Given the description of an element on the screen output the (x, y) to click on. 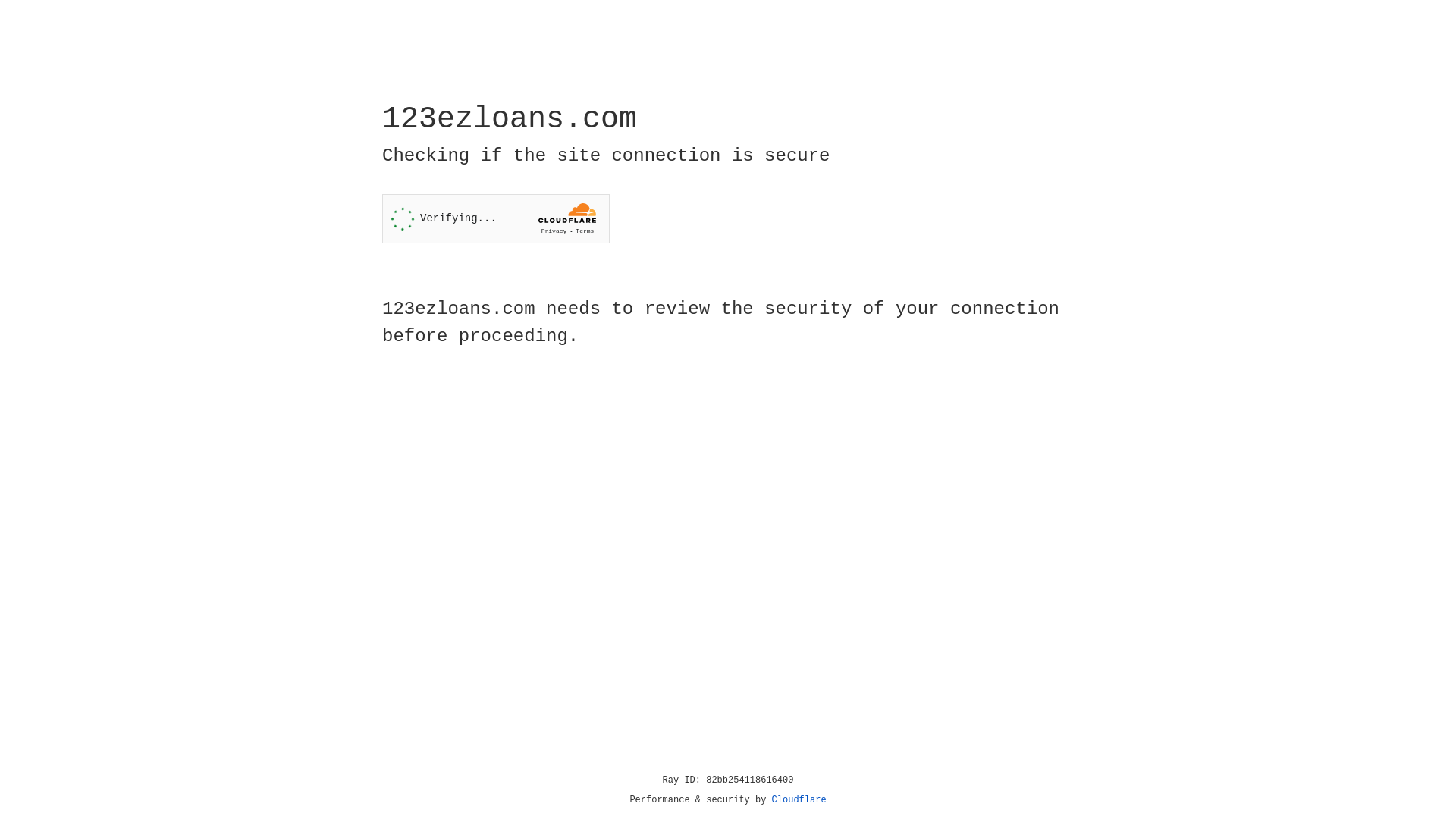
Widget containing a Cloudflare security challenge Element type: hover (495, 218)
Cloudflare Element type: text (798, 799)
